Given the description of an element on the screen output the (x, y) to click on. 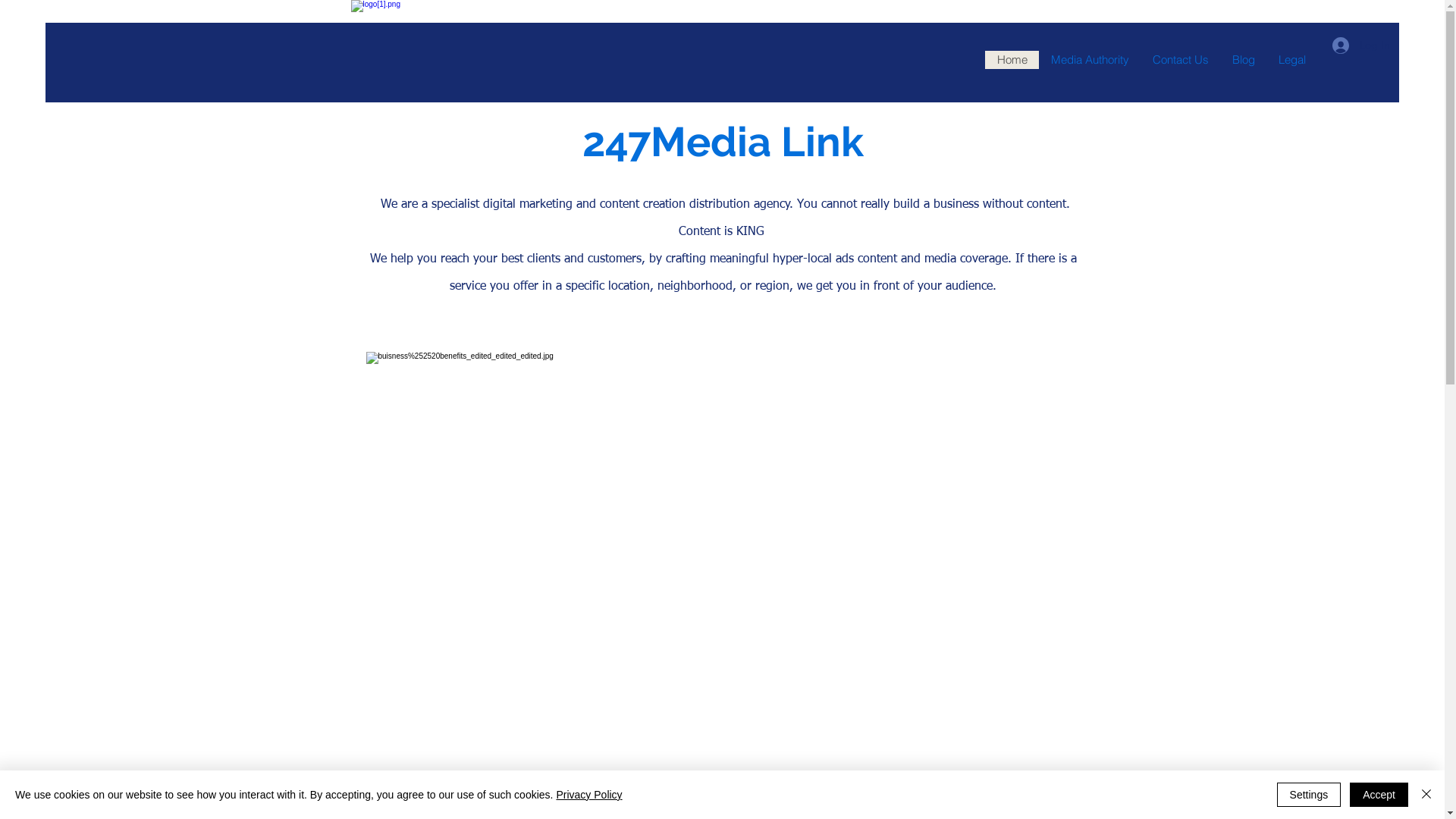
Privacy Policy Element type: text (588, 794)
Log In Element type: text (1360, 45)
Media Authority Element type: text (1089, 59)
Blog Element type: text (1243, 59)
Home Element type: text (1011, 59)
Contact Us Element type: text (1180, 59)
Legal Element type: text (1291, 59)
Accept Element type: text (1378, 794)
Settings Element type: text (1309, 794)
